Given the description of an element on the screen output the (x, y) to click on. 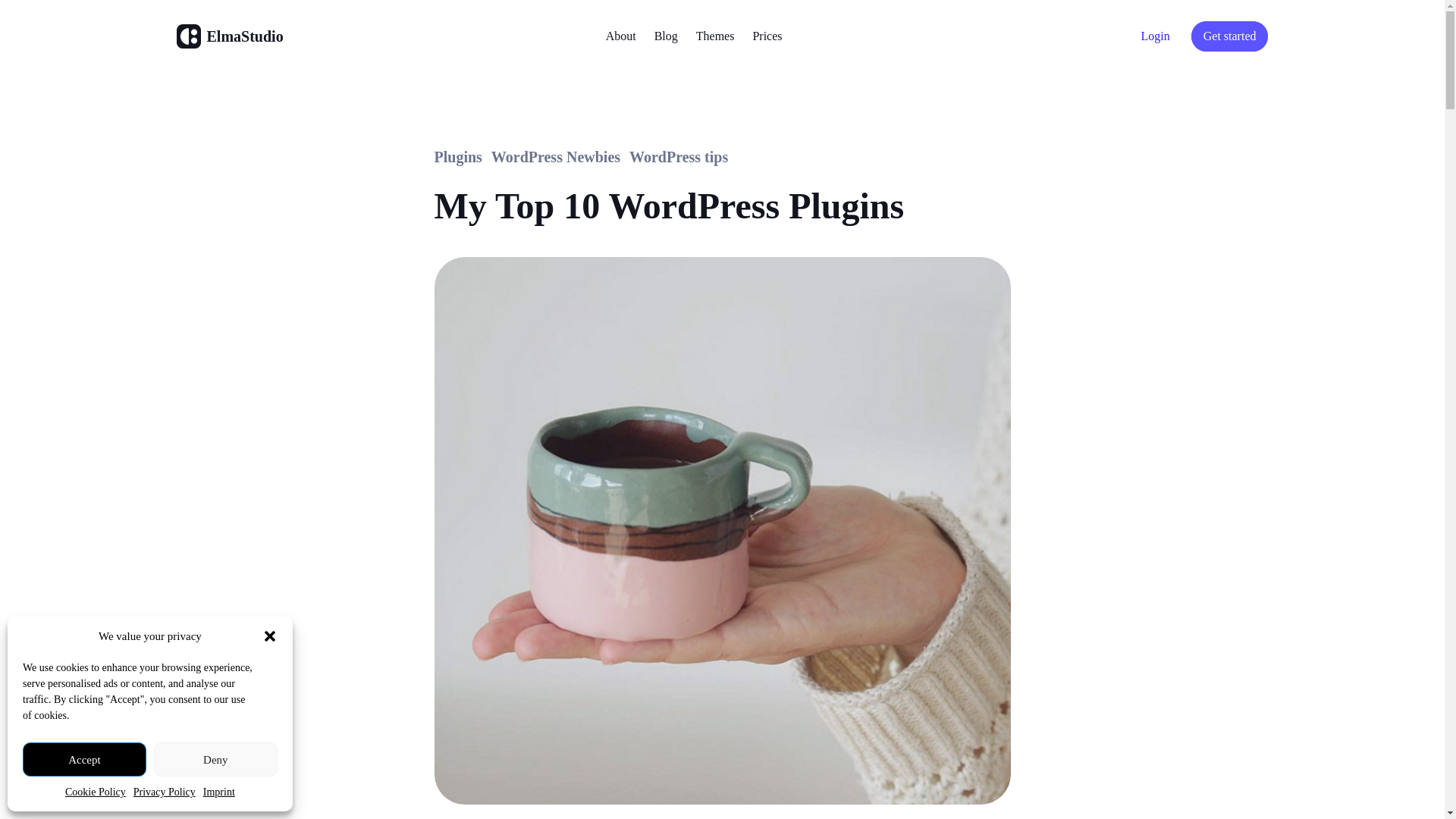
Privacy Policy (164, 791)
Accept (85, 759)
Imprint (218, 791)
Login (1155, 36)
Deny (216, 759)
Plugins (457, 156)
WordPress tips (678, 156)
WordPress Newbies (556, 156)
ElmaStudio (244, 36)
Themes (715, 36)
Cookie Policy (95, 791)
Get started (1229, 36)
